Given the description of an element on the screen output the (x, y) to click on. 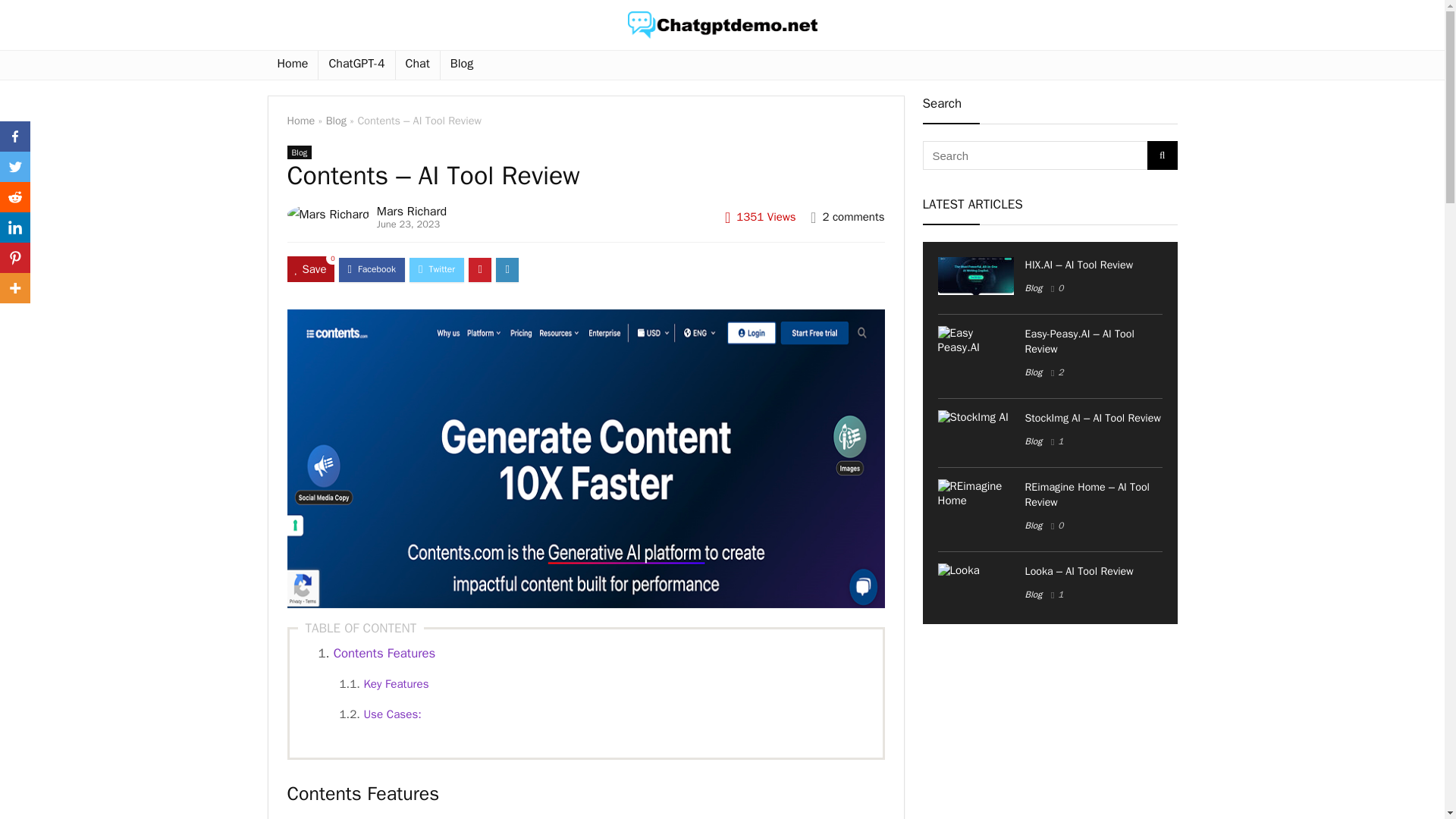
Blog (298, 151)
Twitter (15, 166)
Chat (417, 64)
Pinterest (15, 257)
Mars Richard (411, 211)
Key Features (395, 683)
Home (300, 120)
Linkedin (15, 227)
View all posts in Blog (298, 151)
ChatGPT-4 (356, 64)
